Given the description of an element on the screen output the (x, y) to click on. 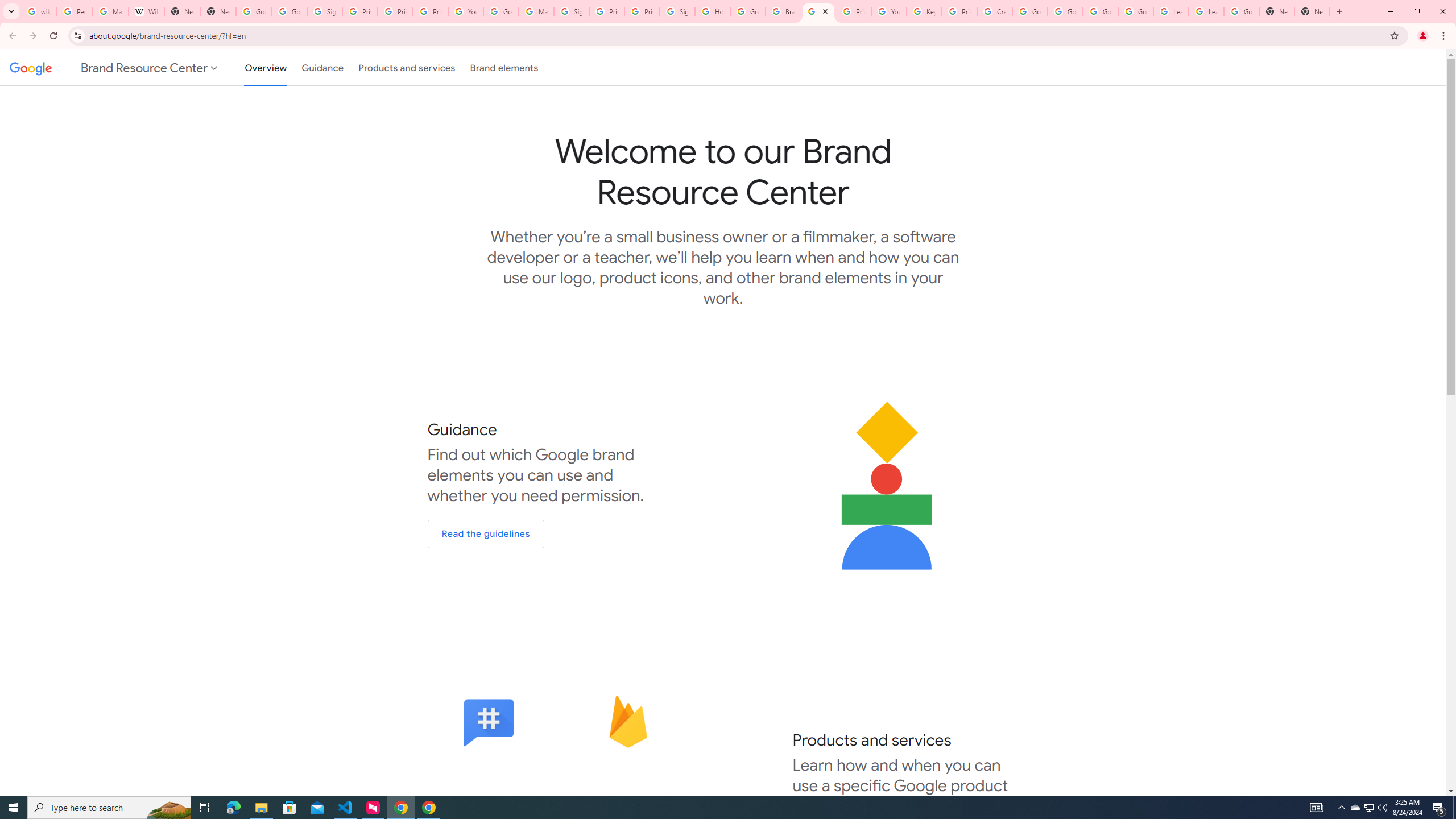
Back (10, 35)
